Given the description of an element on the screen output the (x, y) to click on. 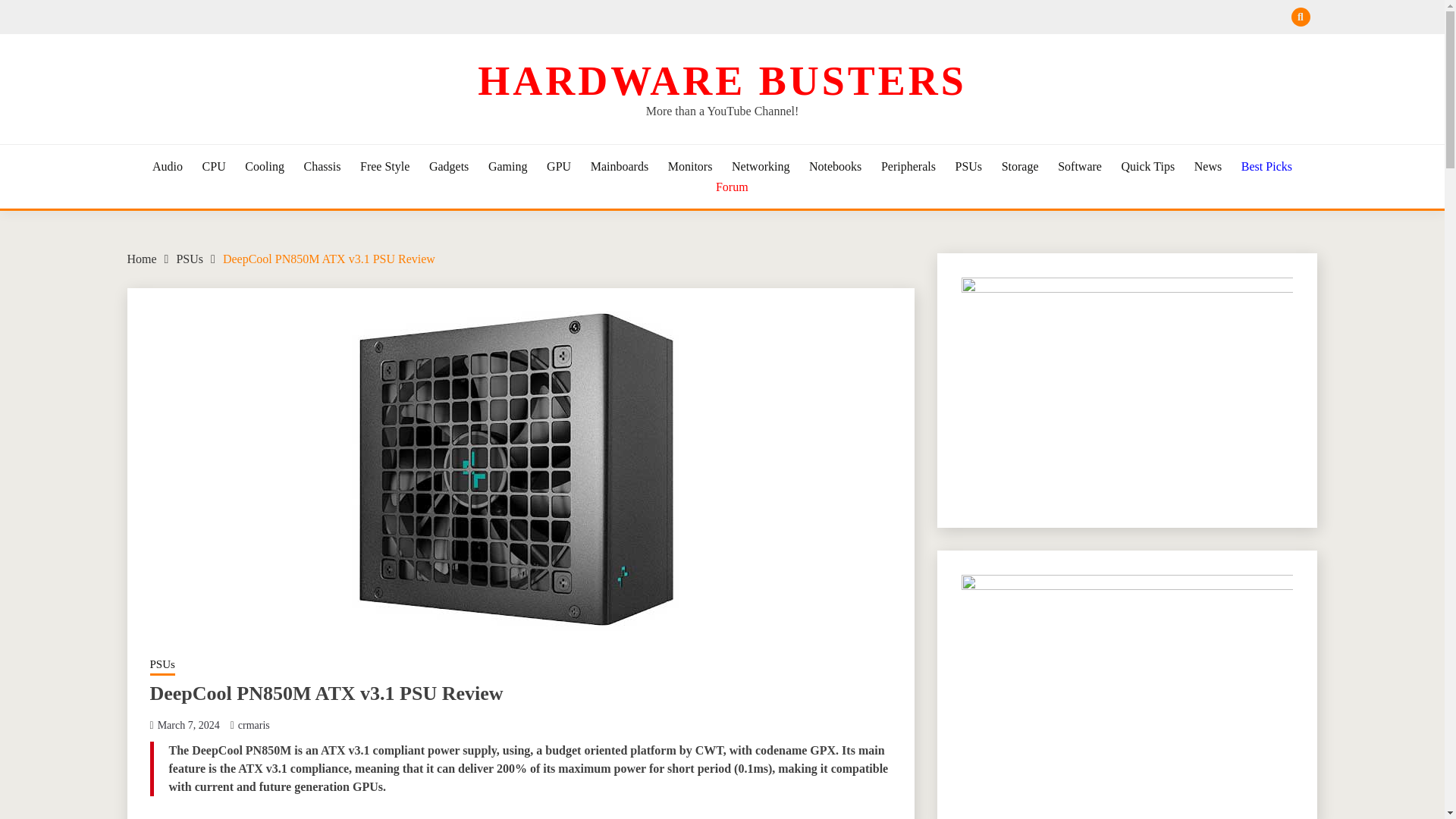
Chassis (321, 166)
Quick Tips (1147, 166)
Notebooks (835, 166)
PSUs (161, 665)
Mainboards (619, 166)
News (1207, 166)
Gaming (507, 166)
Gadgets (448, 166)
Monitors (690, 166)
GPU (558, 166)
